Given the description of an element on the screen output the (x, y) to click on. 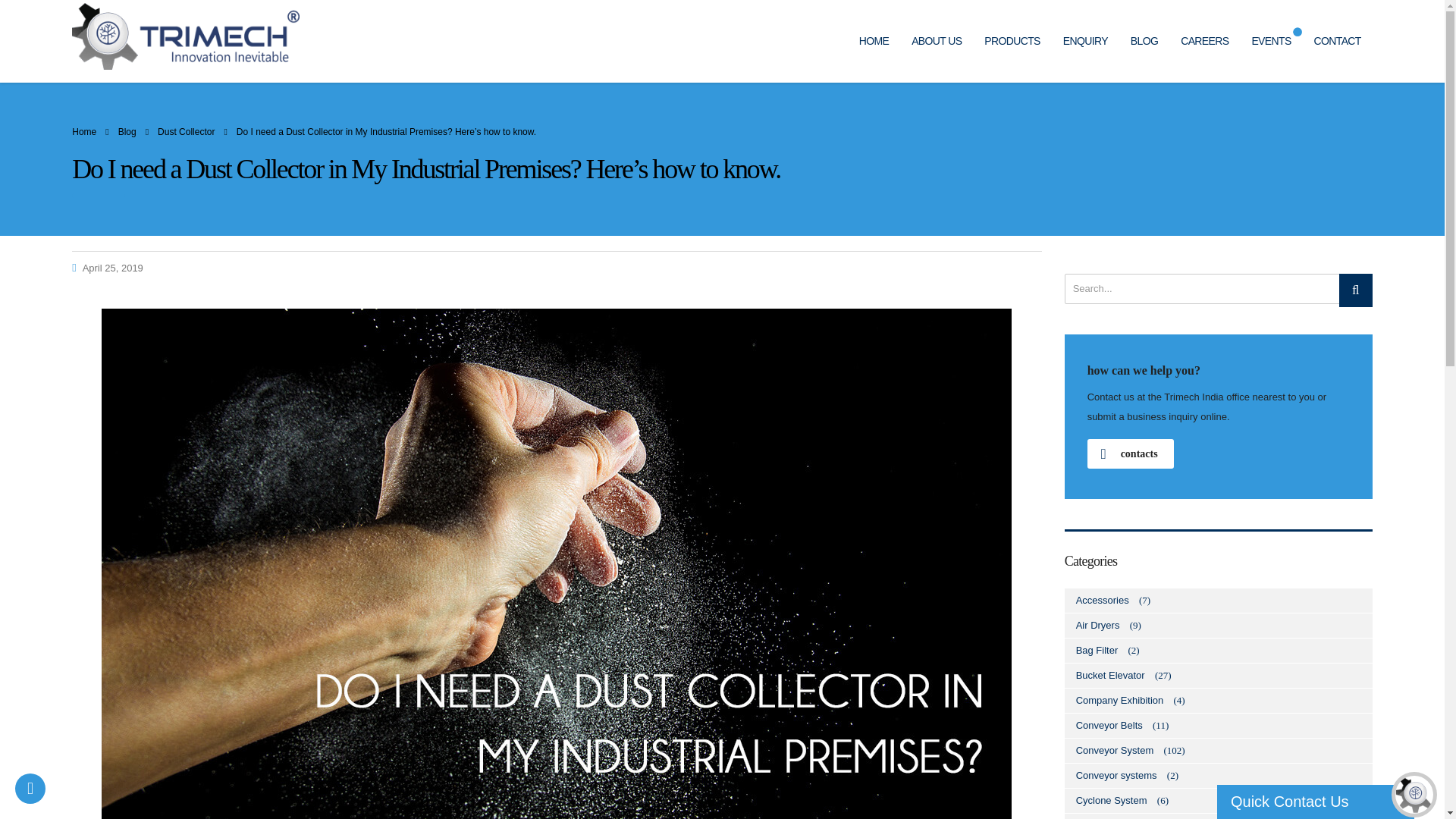
Go to Trimech India. (83, 131)
PRODUCTS (1011, 40)
ENQUIRY (1085, 40)
Go to the Dust Collector category archives. (185, 131)
Go to Blog. (126, 131)
HOME (873, 40)
ABOUT US (935, 40)
CAREERS (1204, 40)
BLOG (1144, 40)
CONTACT (1338, 40)
EVENTS (1270, 40)
